Given the description of an element on the screen output the (x, y) to click on. 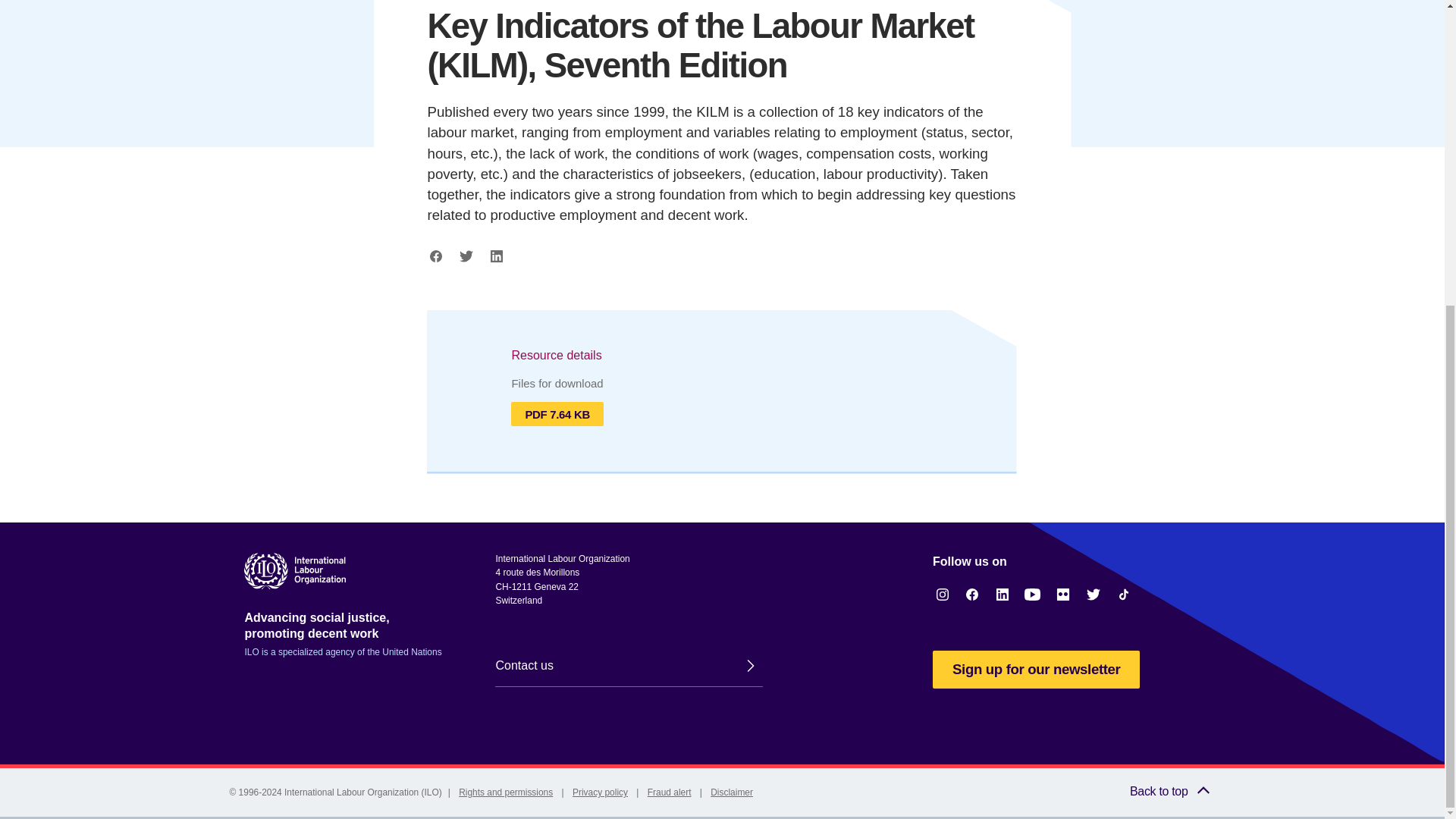
Facebook (971, 594)
PDF 7.64 KB (556, 413)
Linkedin (496, 256)
Linkedin (496, 256)
Tiktok (1123, 594)
Twitter (466, 256)
Twitter (1093, 594)
Twitter (466, 256)
Facebook (436, 256)
Facebook (436, 256)
